Given the description of an element on the screen output the (x, y) to click on. 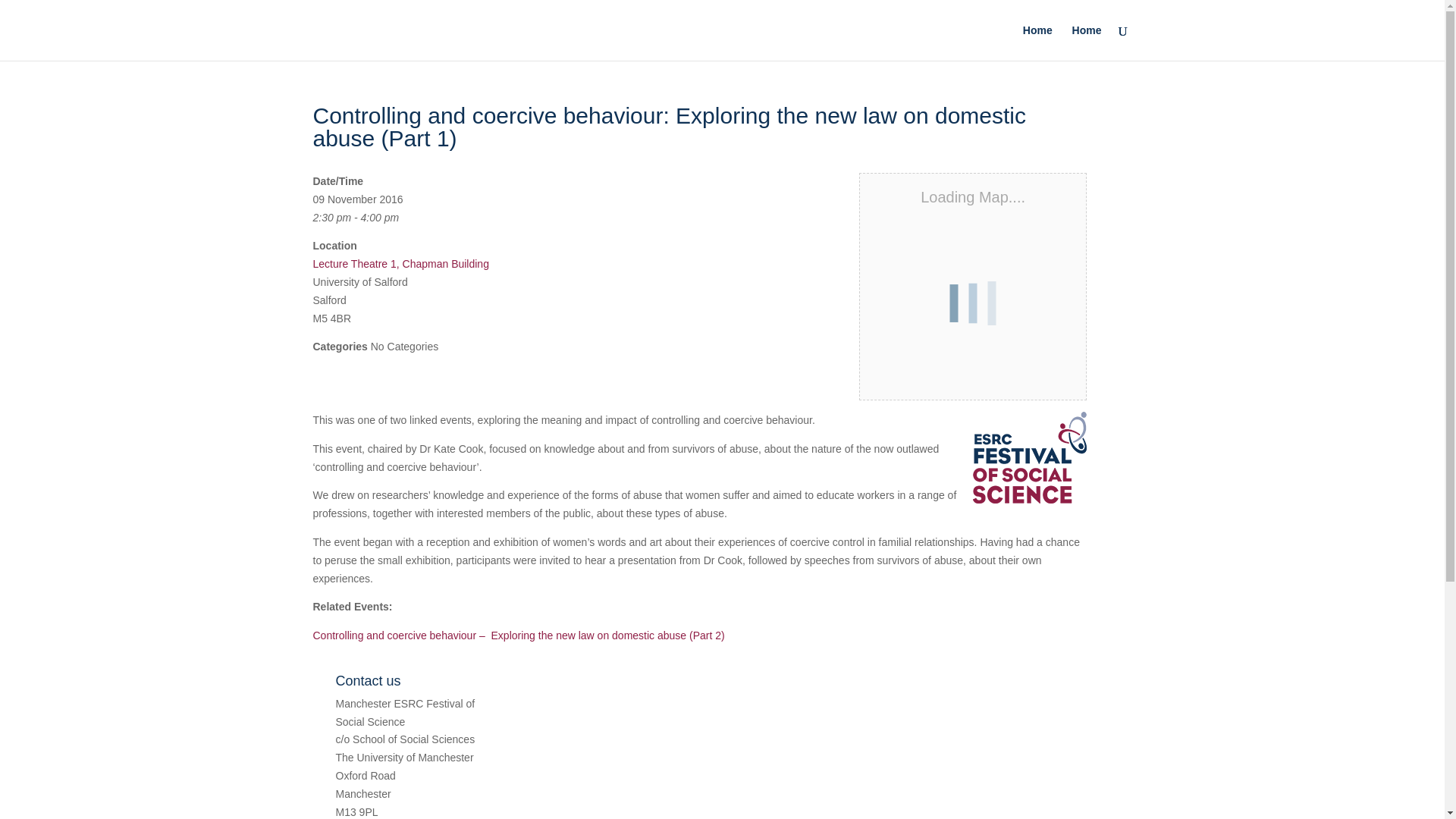
Lecture Theatre 1, Chapman Building (400, 263)
